Given the description of an element on the screen output the (x, y) to click on. 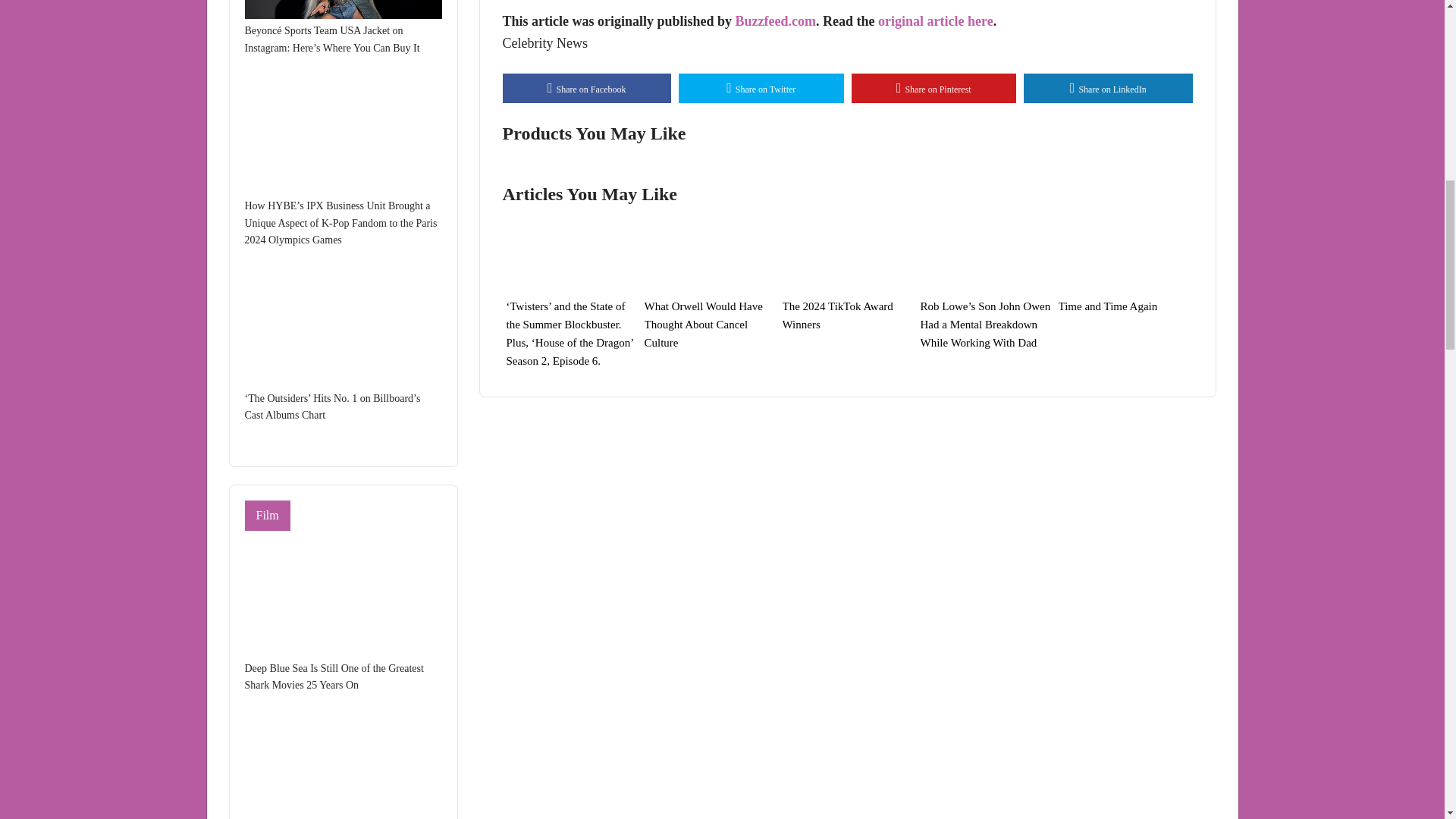
Celebrity News (544, 43)
